Given the description of an element on the screen output the (x, y) to click on. 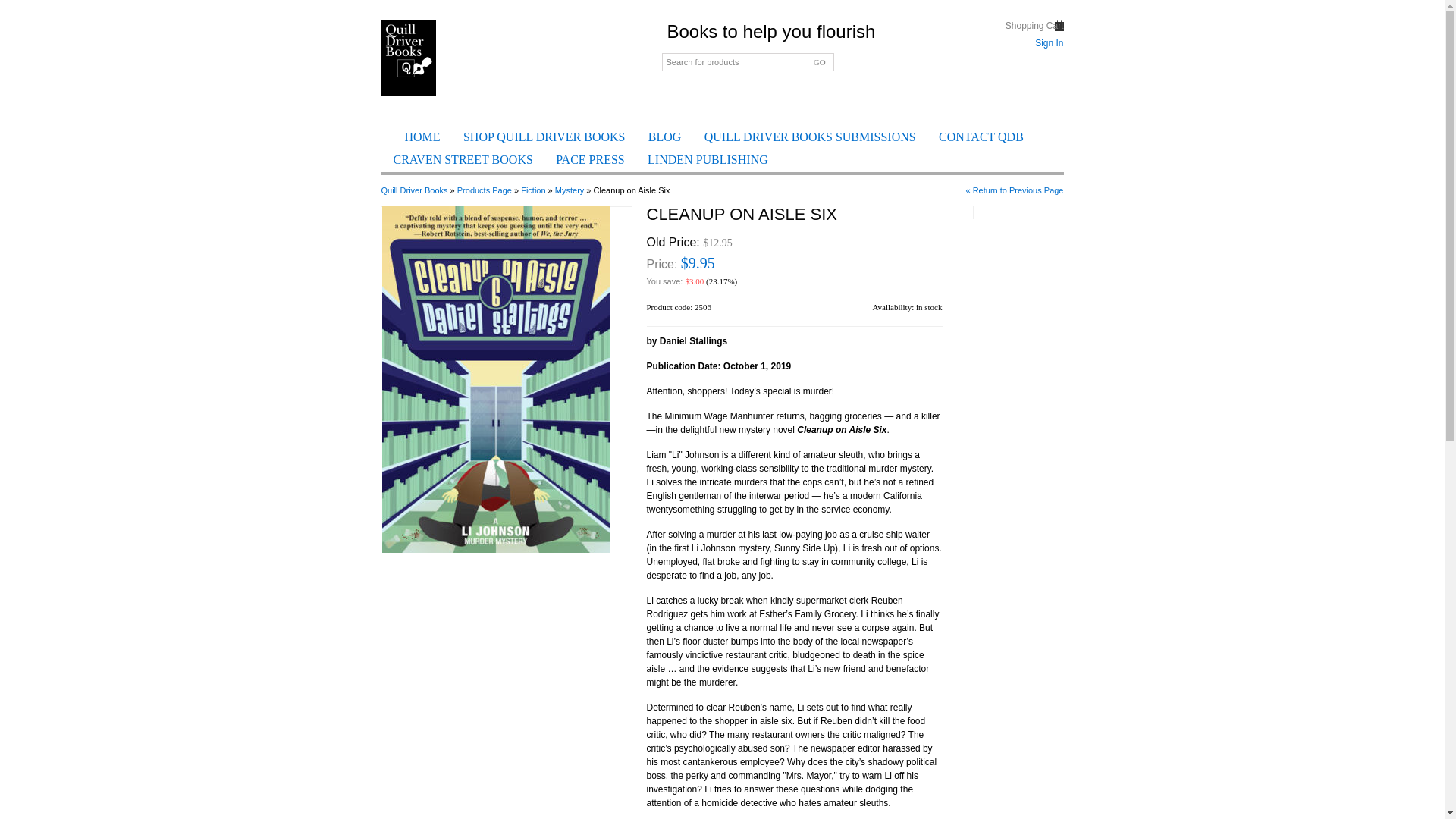
QUILL DRIVER BOOKS SUBMISSIONS (810, 136)
Sign In (1048, 42)
Shopping Cart (1035, 25)
Mystery (569, 189)
PACE PRESS (589, 159)
CONTACT QDB (980, 136)
SHOP QUILL DRIVER BOOKS (544, 136)
CRAVEN STREET BOOKS (462, 159)
Quill Driver Books (413, 189)
Products Page (484, 189)
HOME (422, 136)
Search for products (746, 62)
LINDEN PUBLISHING (708, 159)
Fiction (532, 189)
BLOG (664, 136)
